Given the description of an element on the screen output the (x, y) to click on. 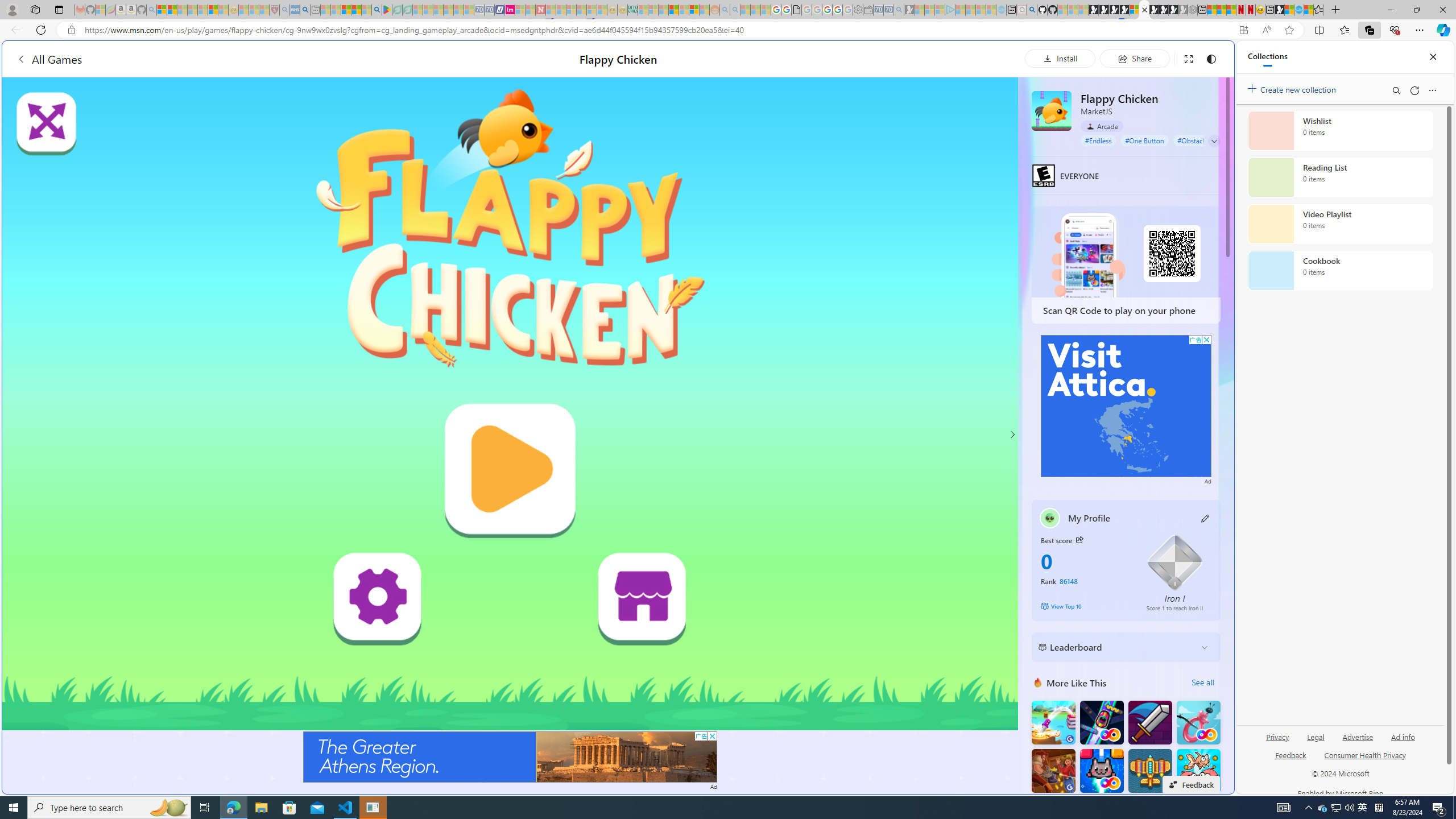
Services - Maintenance | Sky Blue Bikes - Sky Blue Bikes (1299, 9)
Install (1060, 58)
Atlantic Sky Hunter (1149, 770)
Cookbook collection, 0 items (1339, 270)
Latest Politics News & Archive | Newsweek.com - Sleeping (539, 9)
